Given the description of an element on the screen output the (x, y) to click on. 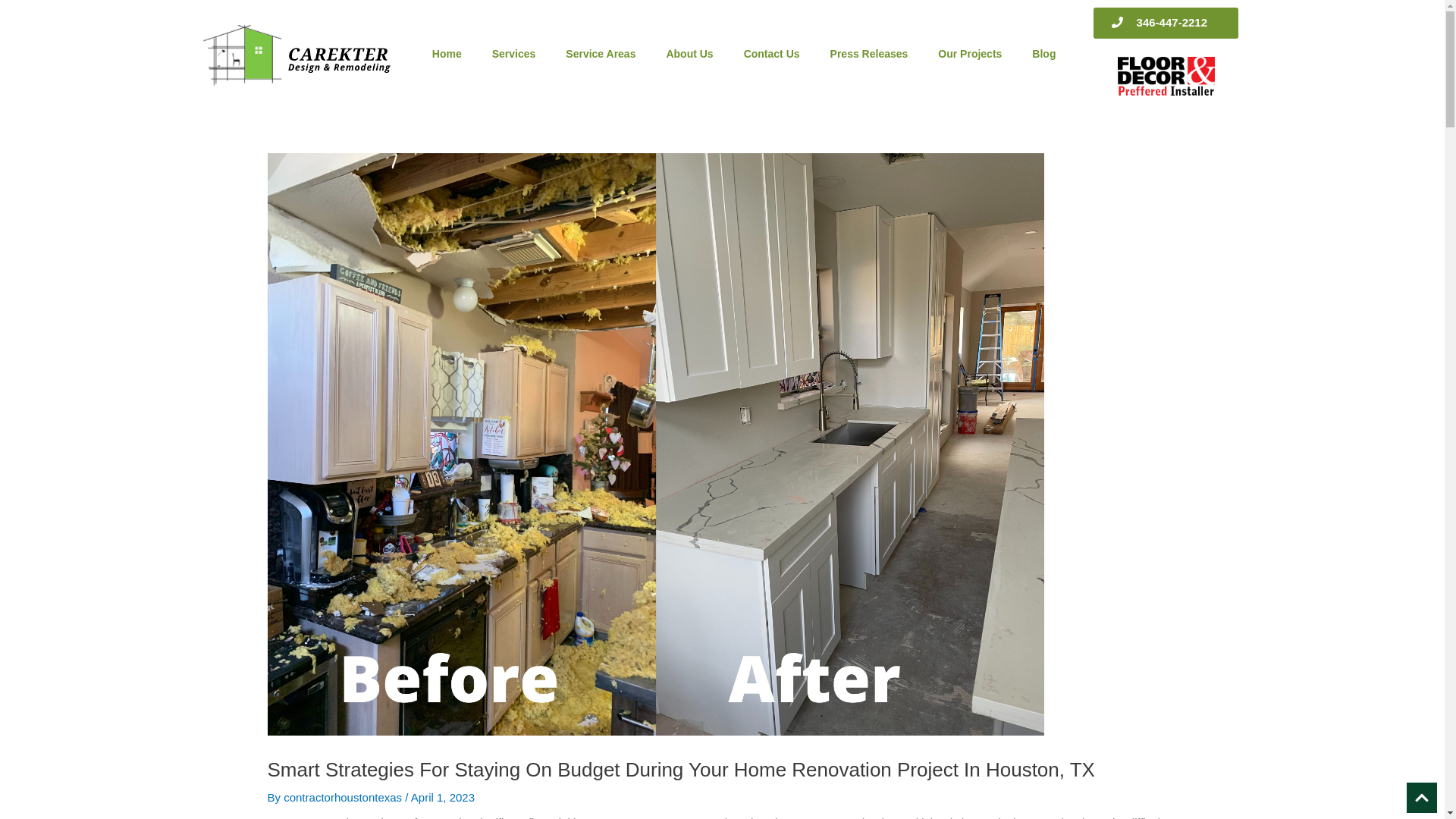
Press Releases (869, 53)
Services (514, 53)
About Us (689, 53)
Our Projects (969, 53)
View all posts by contractorhoustontexas (343, 797)
Contact Us (772, 53)
Service Areas (600, 53)
